Given the description of an element on the screen output the (x, y) to click on. 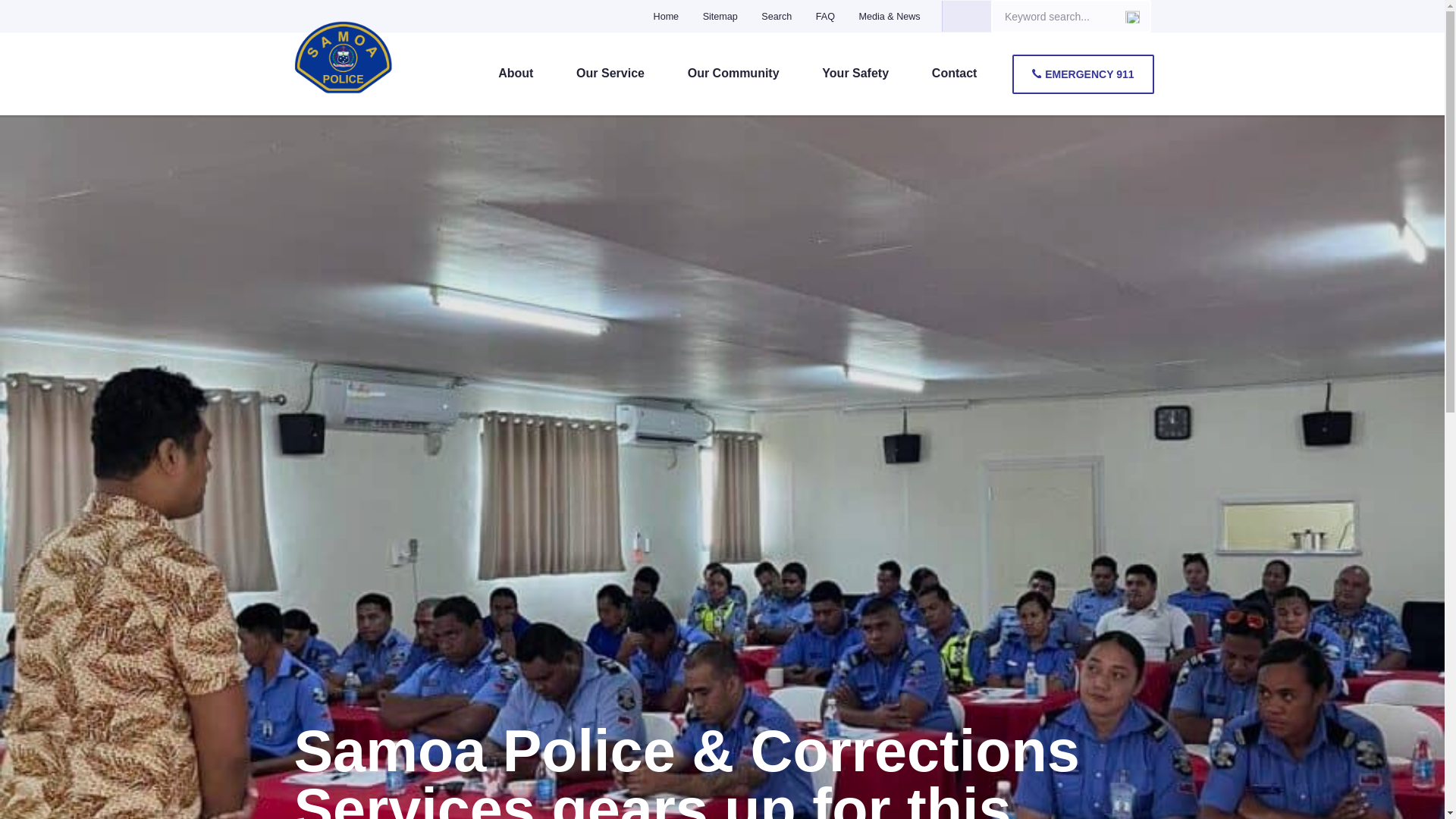
Our Community (733, 73)
About (515, 73)
PHONE-REV (1036, 73)
Contact (954, 73)
Sitemap (719, 16)
Our Service (609, 73)
Search (776, 16)
Your Safety (855, 73)
Home (666, 16)
FAQ (825, 16)
